Given the description of an element on the screen output the (x, y) to click on. 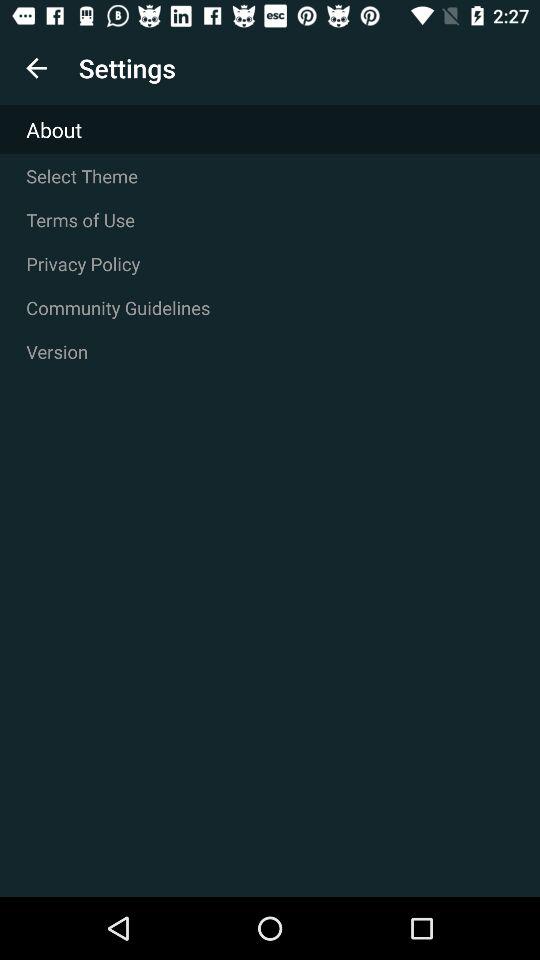
flip until about icon (270, 129)
